Given the description of an element on the screen output the (x, y) to click on. 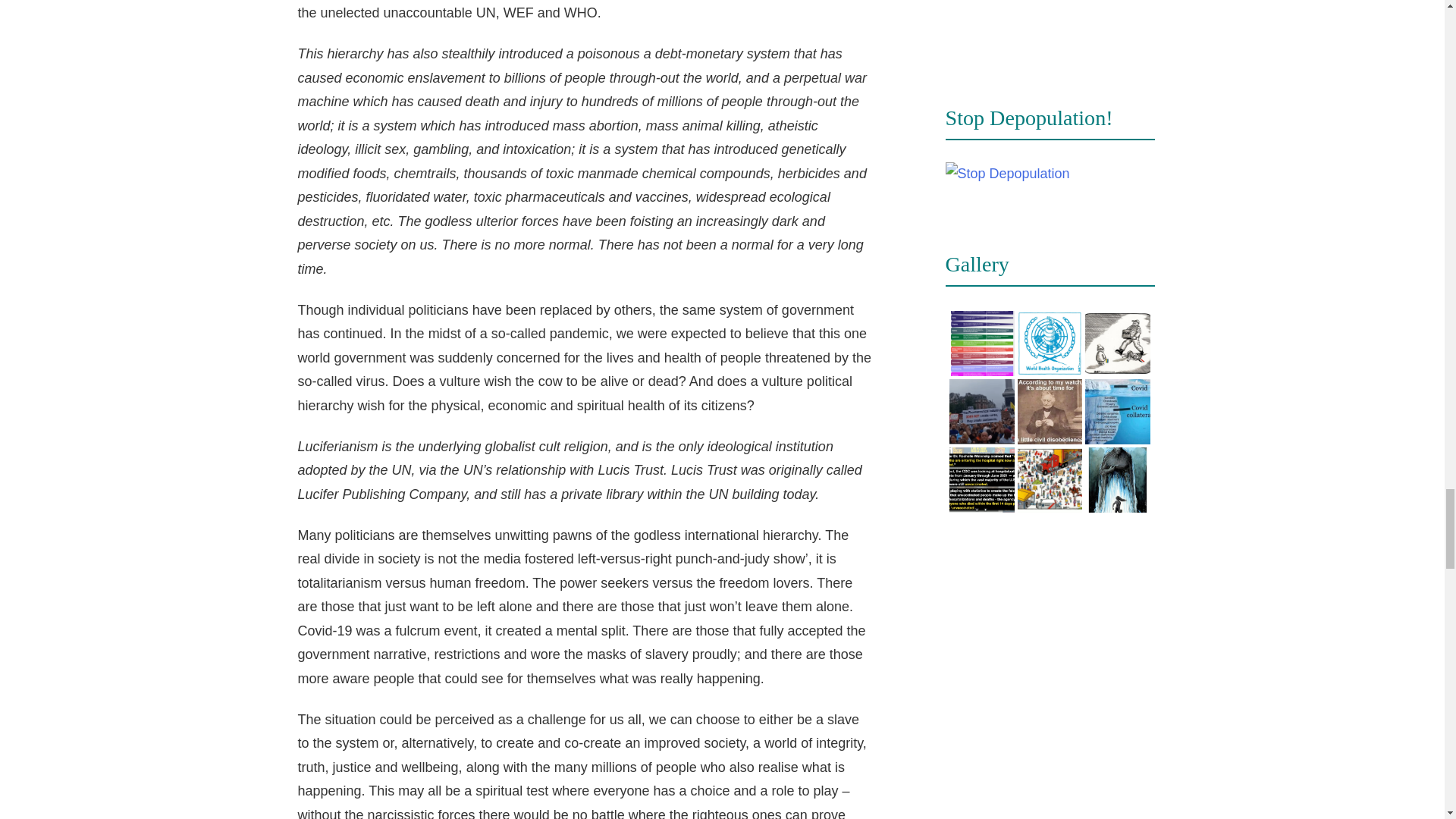
Lying About Unvaccinated (981, 479)
Pharma (981, 411)
Time for civil disobedience (1049, 411)
Where's Trudeau? (1050, 479)
The Covid Iceberg (1117, 411)
WHO (1049, 343)
Bob Moran - Wrong Flag (1118, 343)
Stop Depopulation! (1006, 174)
